Given the description of an element on the screen output the (x, y) to click on. 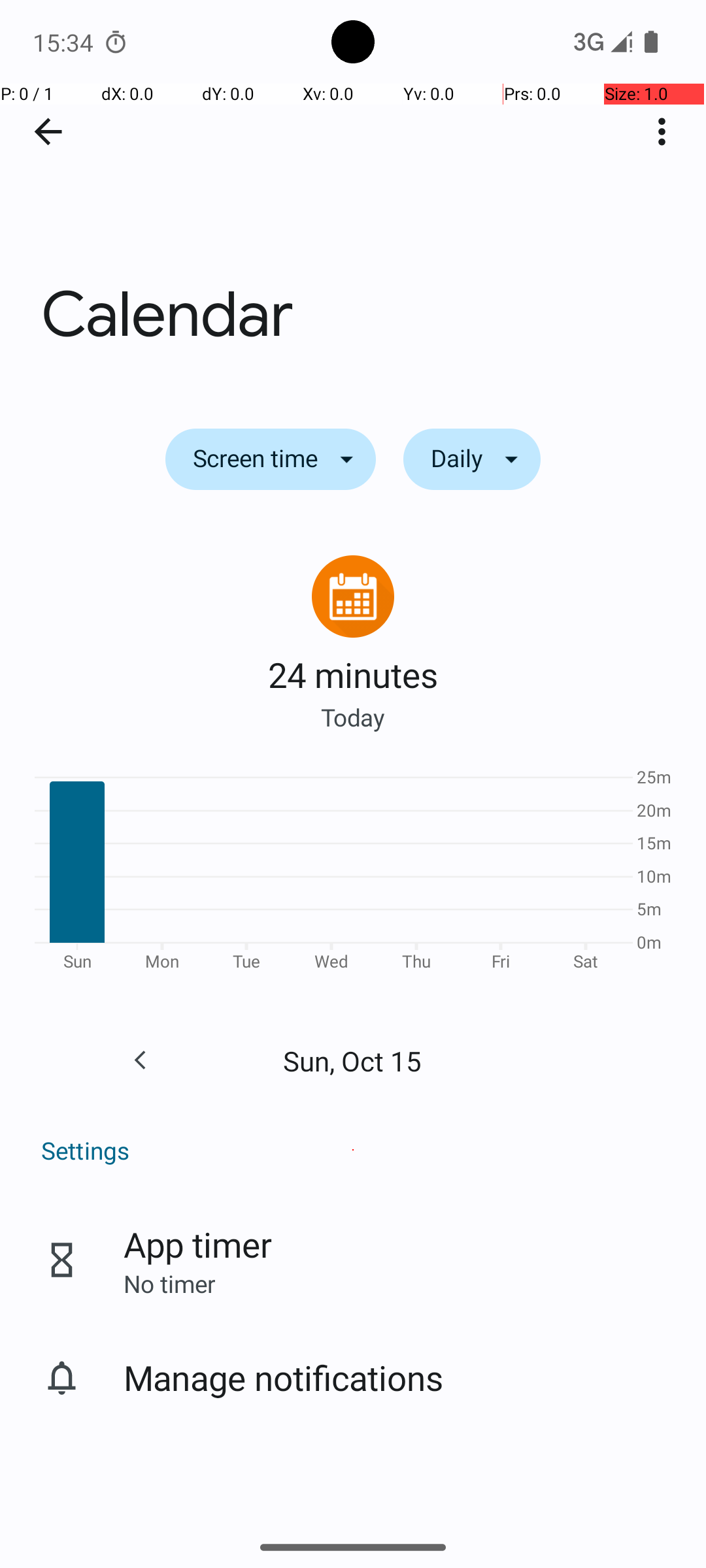
24 minutes Element type: android.widget.TextView (353, 674)
App timer Element type: android.widget.TextView (197, 1244)
No timer Element type: android.widget.TextView (169, 1283)
